Given the description of an element on the screen output the (x, y) to click on. 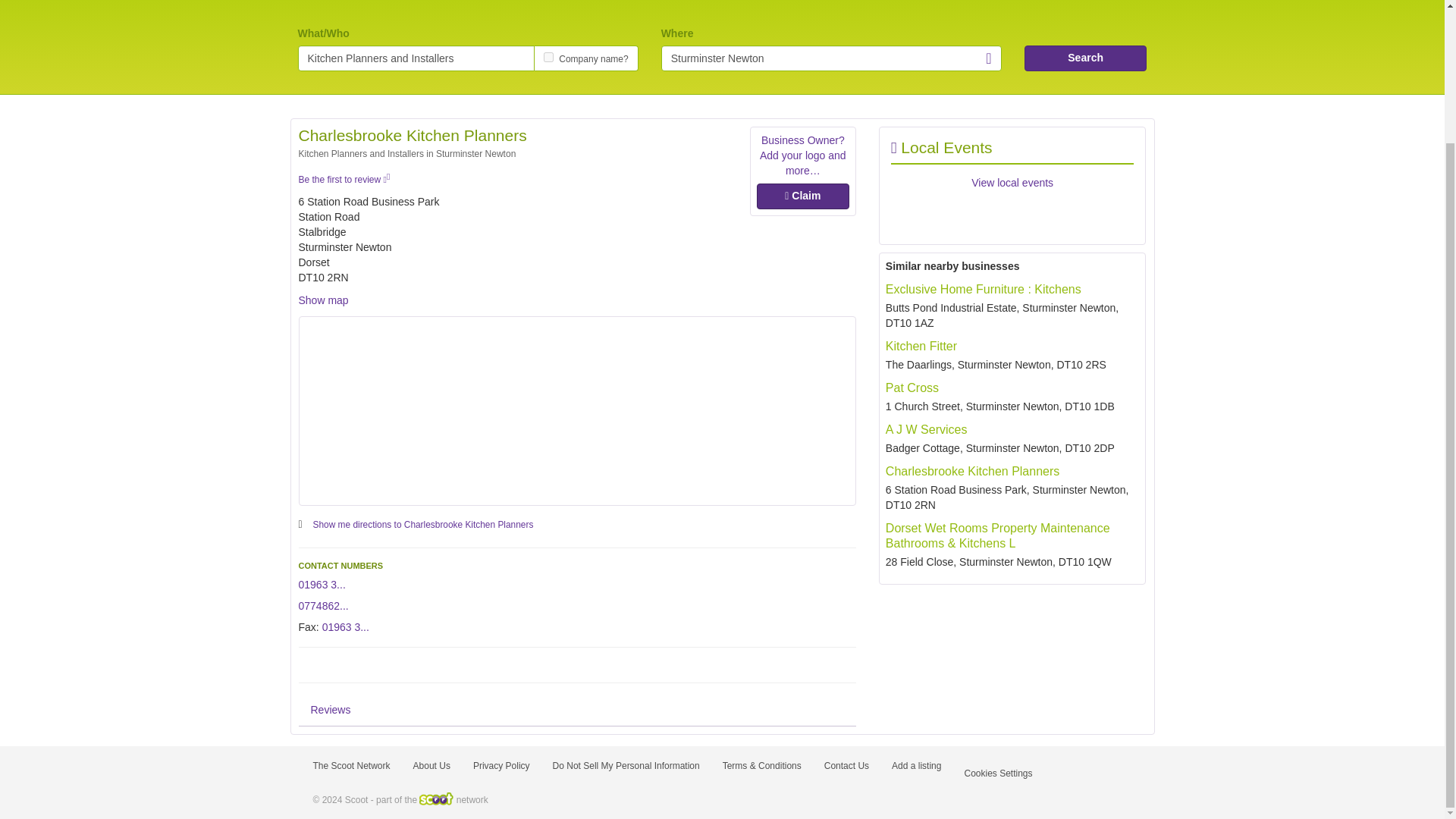
Kitchen Planners and Installers (415, 58)
 Claim (802, 196)
Pat Cross (912, 387)
Exclusive Home Furniture : Kitchens (983, 288)
A J W Services (926, 429)
Search (1086, 58)
Be the first to review (344, 179)
View local events (1011, 182)
Sturminster Newton (831, 58)
01963 3... (322, 584)
Charlesbrooke Kitchen Planners (972, 471)
Show me directions to Charlesbrooke Kitchen Planners (423, 523)
Reveal phone number (323, 605)
Show map (323, 300)
Reveal fax number (345, 626)
